Given the description of an element on the screen output the (x, y) to click on. 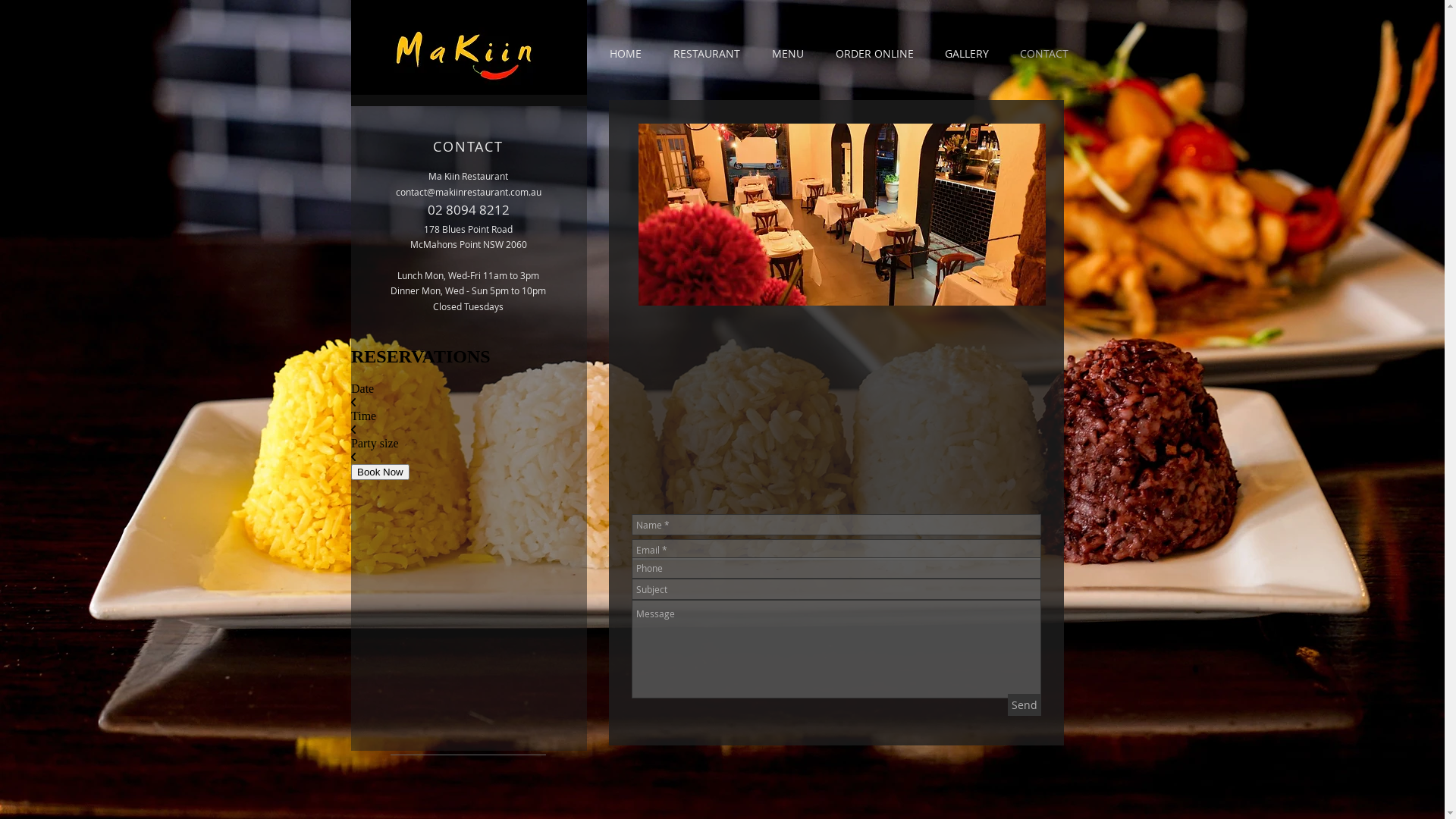
RESTAURANT Element type: text (705, 53)
MENU Element type: text (787, 53)
Wix Reservations Element type: hover (468, 461)
contact@makiinrestaurant.com.au Element type: text (468, 191)
ORDER ONLINE Element type: text (873, 53)
CONTACT Element type: text (1043, 53)
Send Element type: text (1023, 704)
GALLERY Element type: text (966, 53)
Google Maps Element type: hover (834, 405)
HOME Element type: text (624, 53)
